Given the description of an element on the screen output the (x, y) to click on. 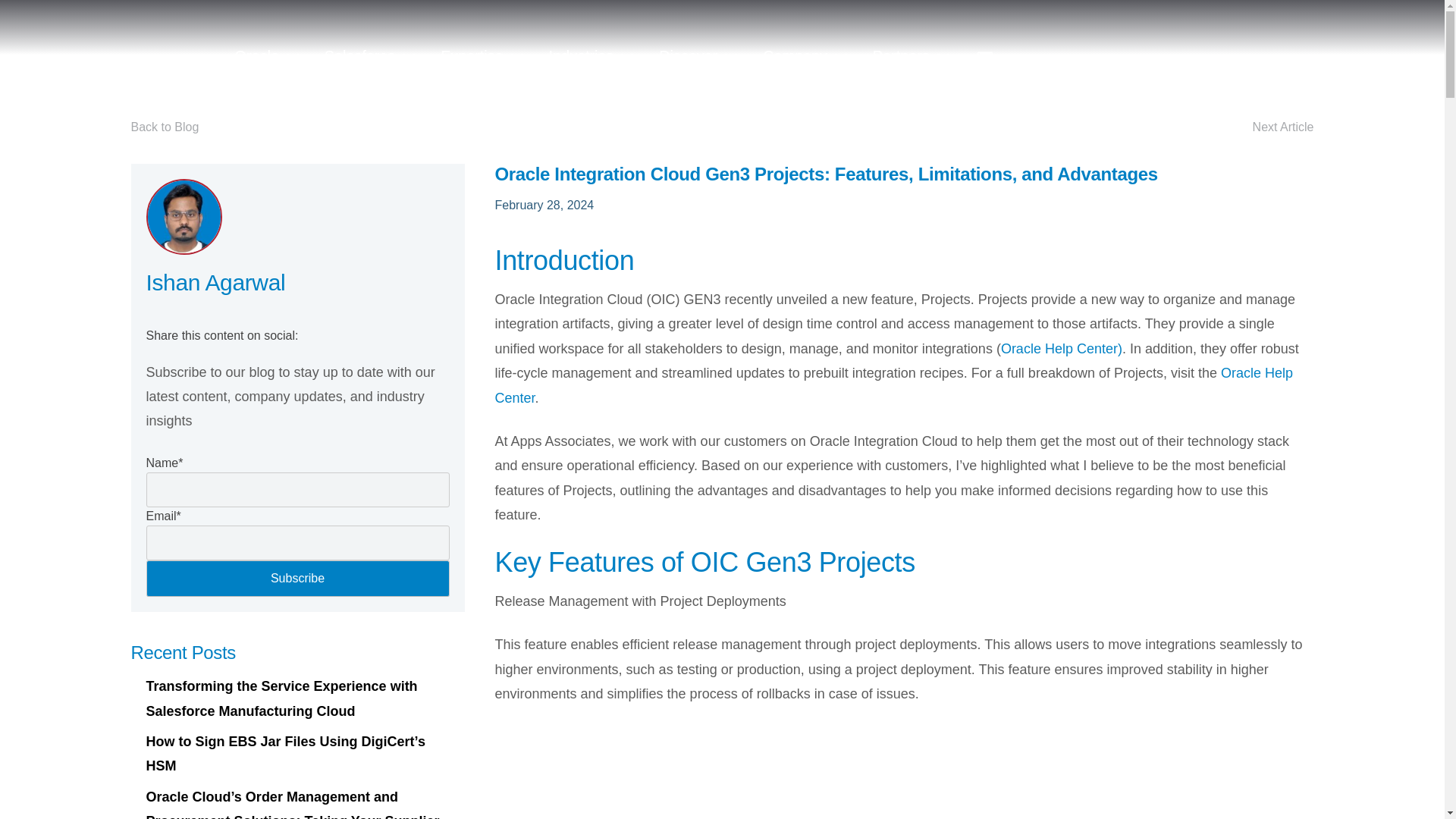
Subscribe (296, 578)
Industries (592, 55)
Salesforce (370, 55)
Oracle (267, 55)
Expertise (483, 55)
